Given the description of an element on the screen output the (x, y) to click on. 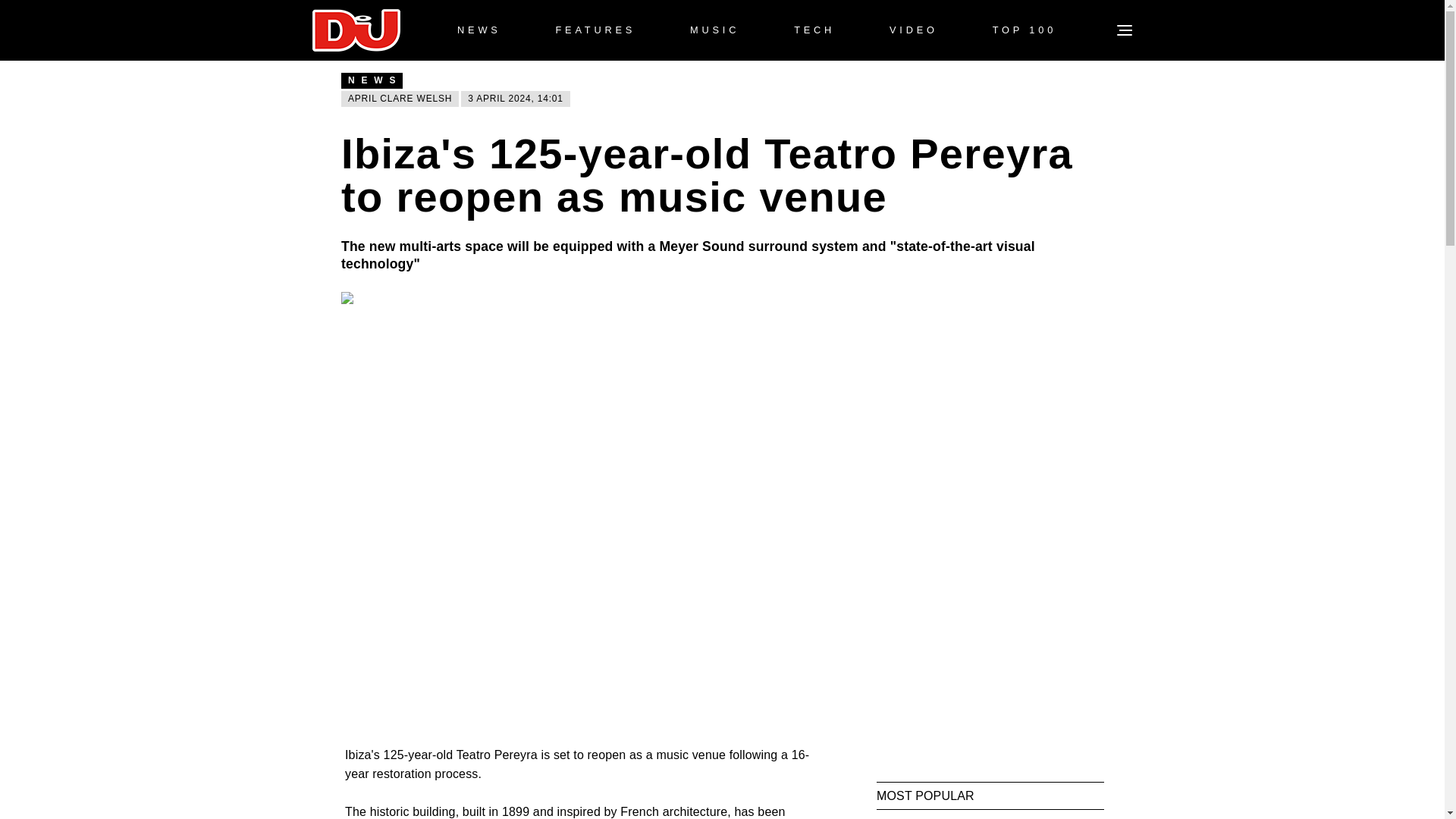
VIDEO (913, 29)
MUSIC (714, 29)
DJ Mag (356, 30)
FEATURES (594, 29)
NEWS (478, 29)
TECH (813, 29)
